Given the description of an element on the screen output the (x, y) to click on. 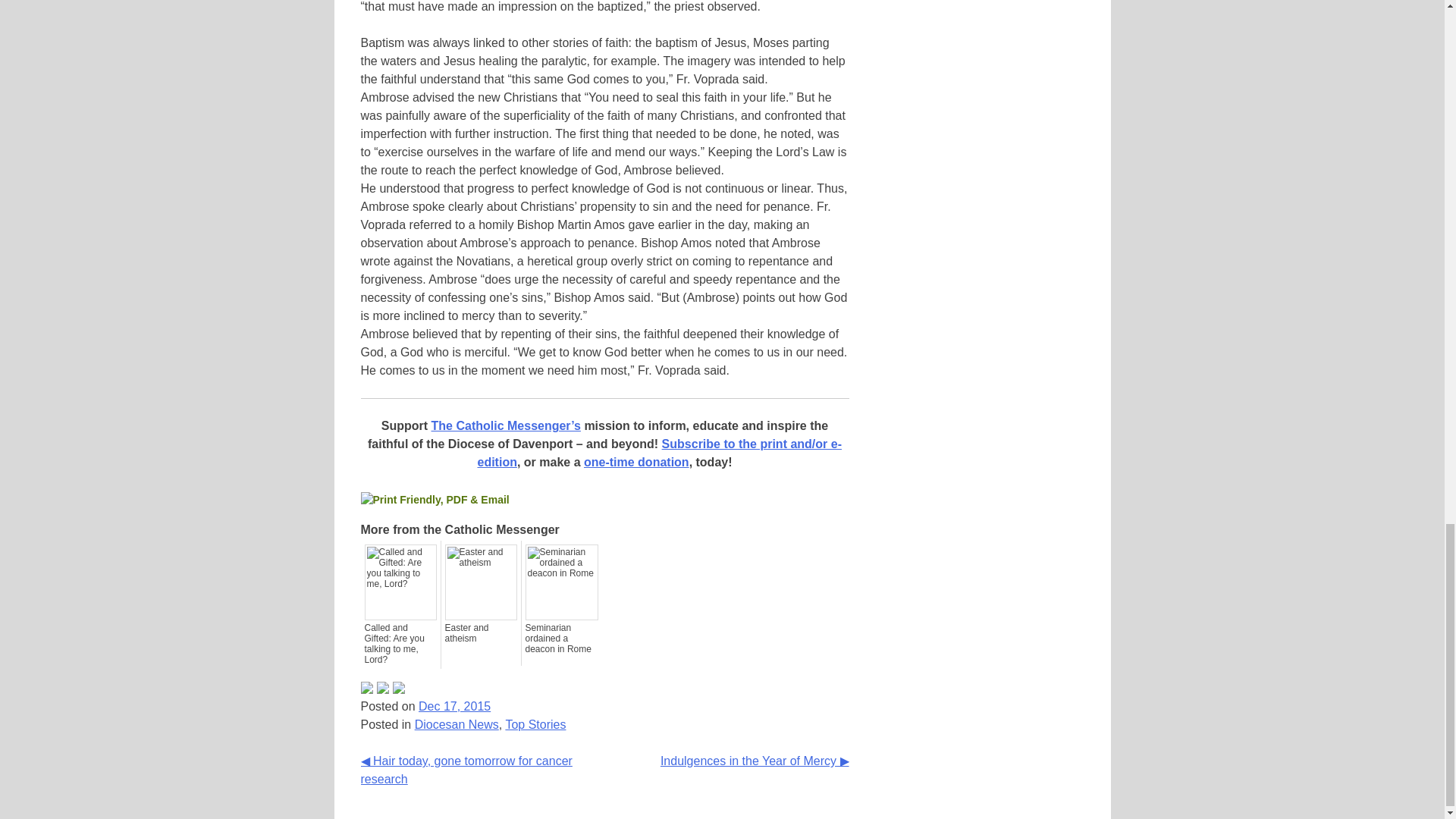
Share on Facebook (366, 687)
Share on Twitter (381, 687)
Share by email (398, 687)
